Given the description of an element on the screen output the (x, y) to click on. 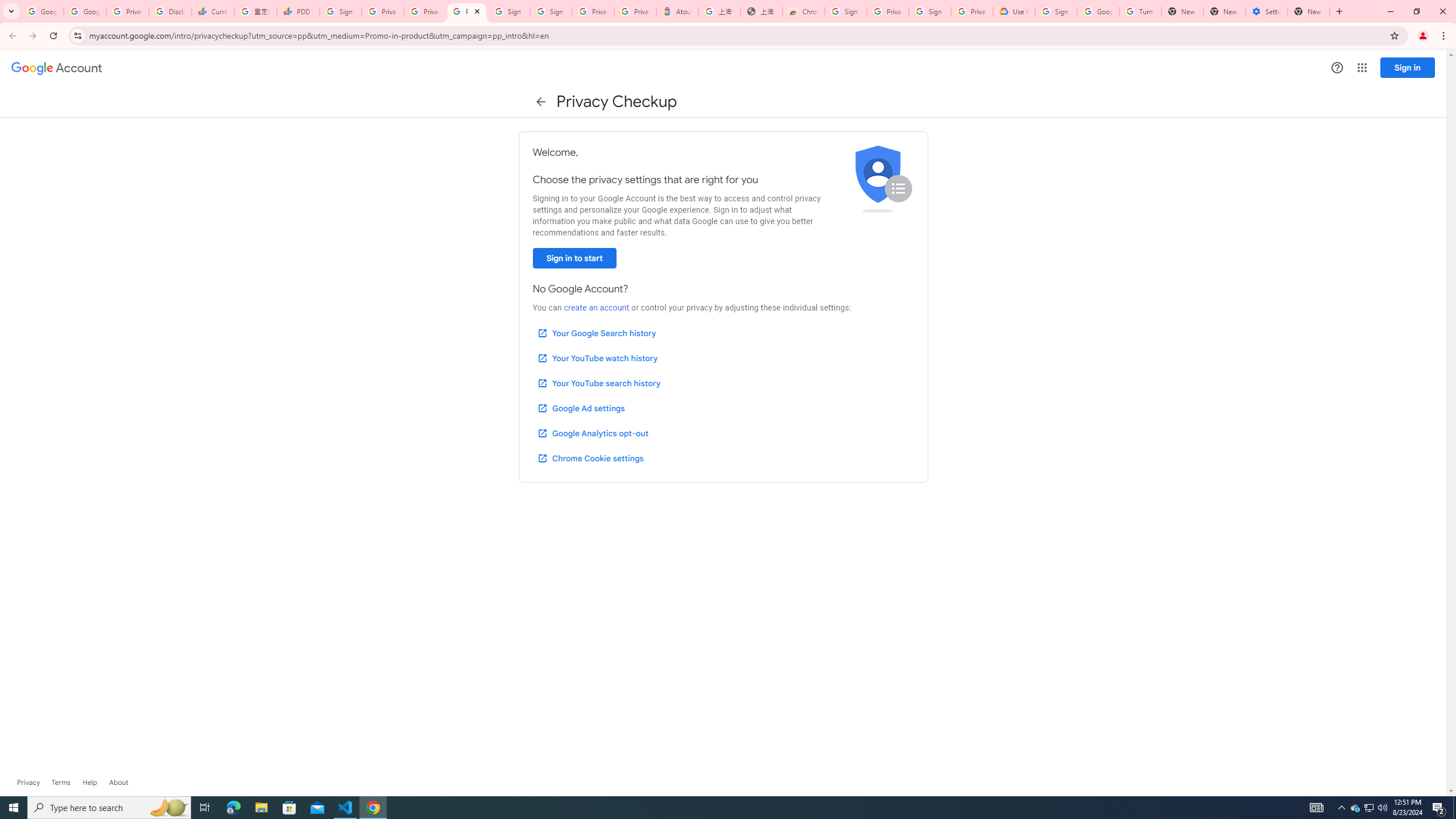
Google Analytics opt-out (592, 433)
New Tab (1308, 11)
Sign in - Google Accounts (845, 11)
Currencies - Google Finance (212, 11)
Sign in - Google Accounts (509, 11)
PDD Holdings Inc - ADR (PDD) Price & News - Google Finance (298, 11)
